Given the description of an element on the screen output the (x, y) to click on. 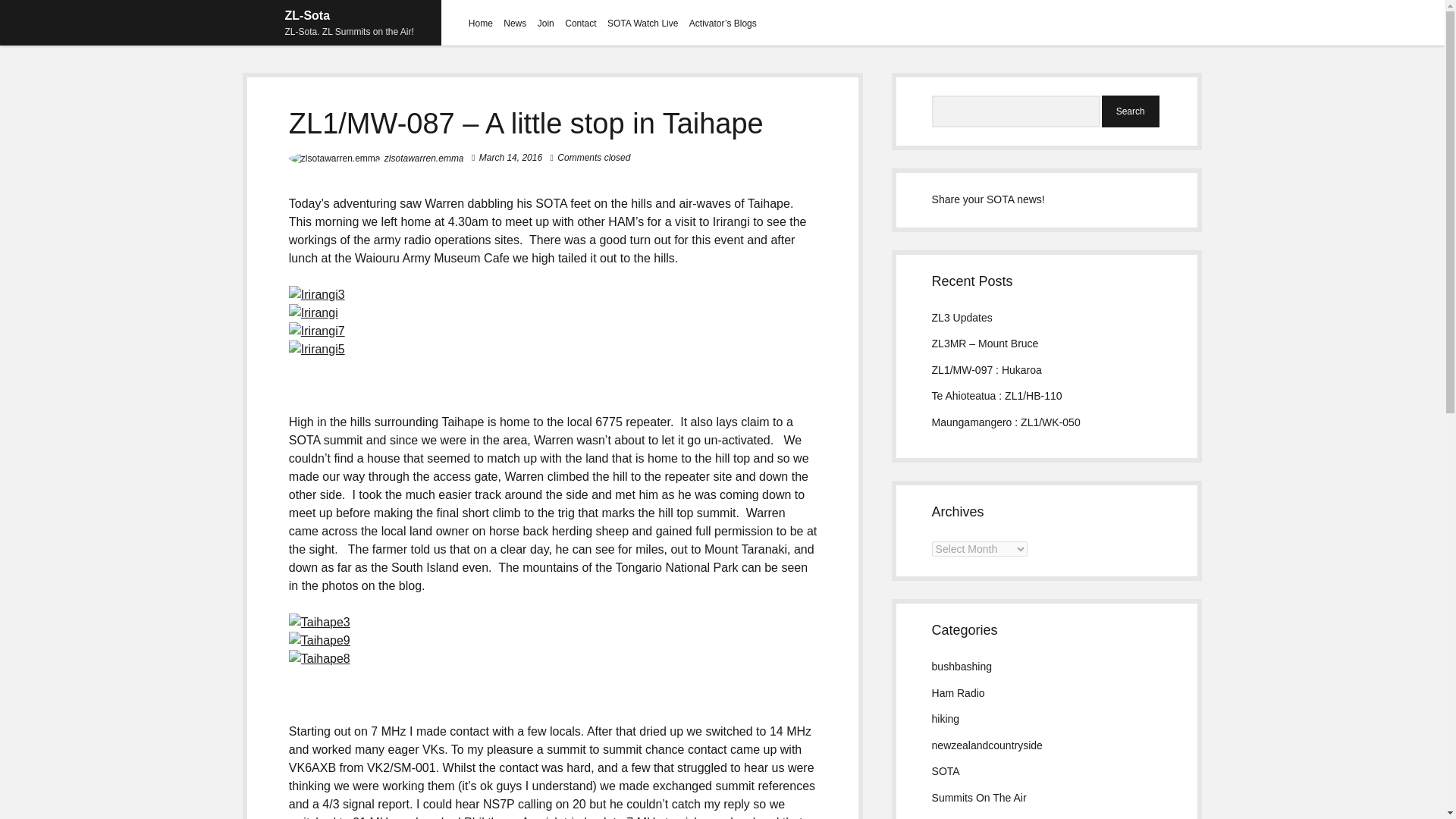
Share your SOTA news! (988, 199)
ZL3 Updates (961, 317)
Join (545, 23)
Search (1130, 111)
Contact (579, 23)
zlsotawarren.emma (424, 158)
Search for: (1015, 111)
March 14, 2016 (510, 157)
SOTA (945, 770)
newzealandcountryside (986, 745)
News (514, 23)
Search (1130, 111)
Summits On The Air (978, 797)
Ham Radio (958, 693)
bushbashing (961, 666)
